Given the description of an element on the screen output the (x, y) to click on. 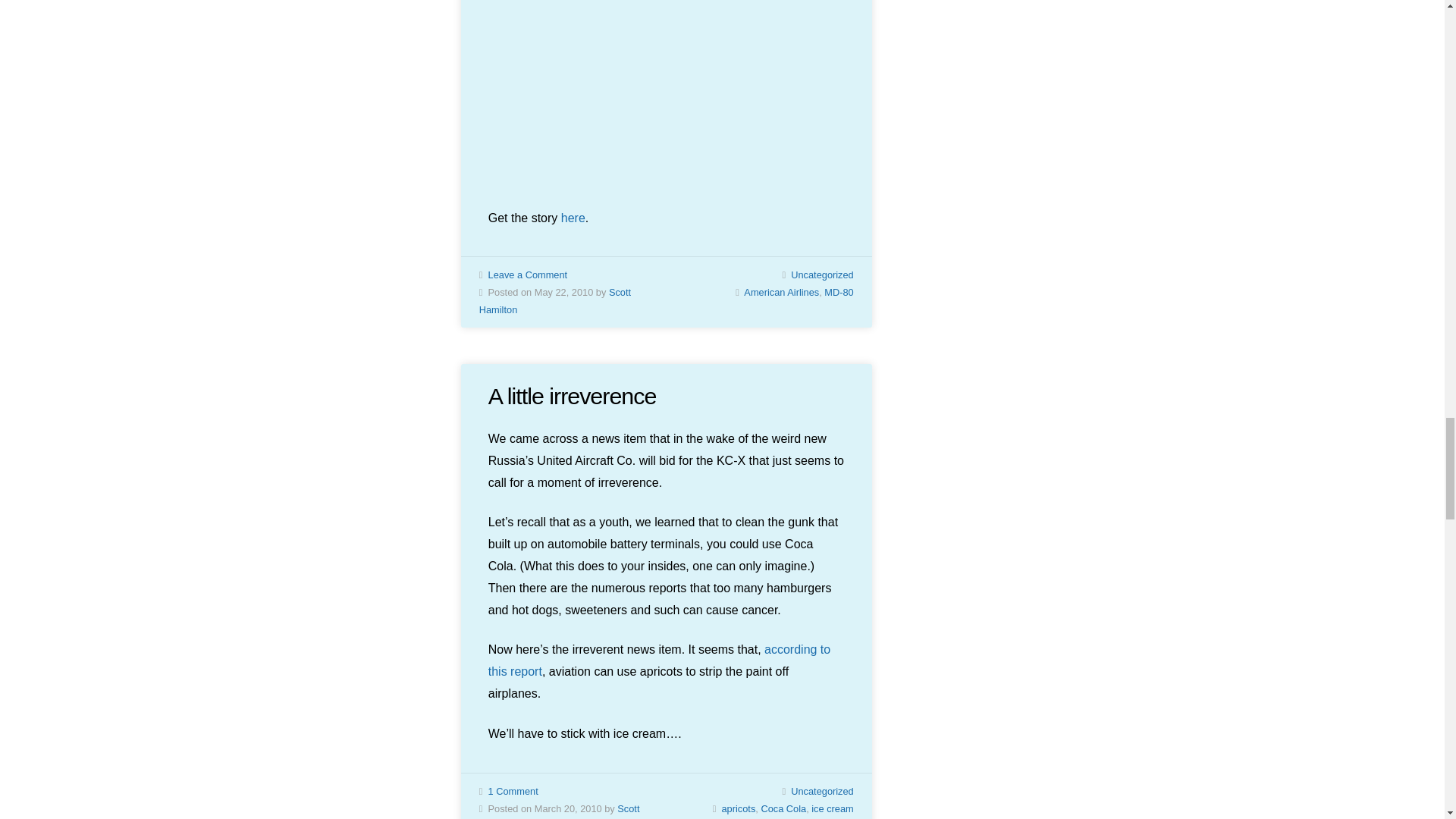
Posts by Scott Hamilton (554, 300)
AAMD80 (665, 92)
